Given the description of an element on the screen output the (x, y) to click on. 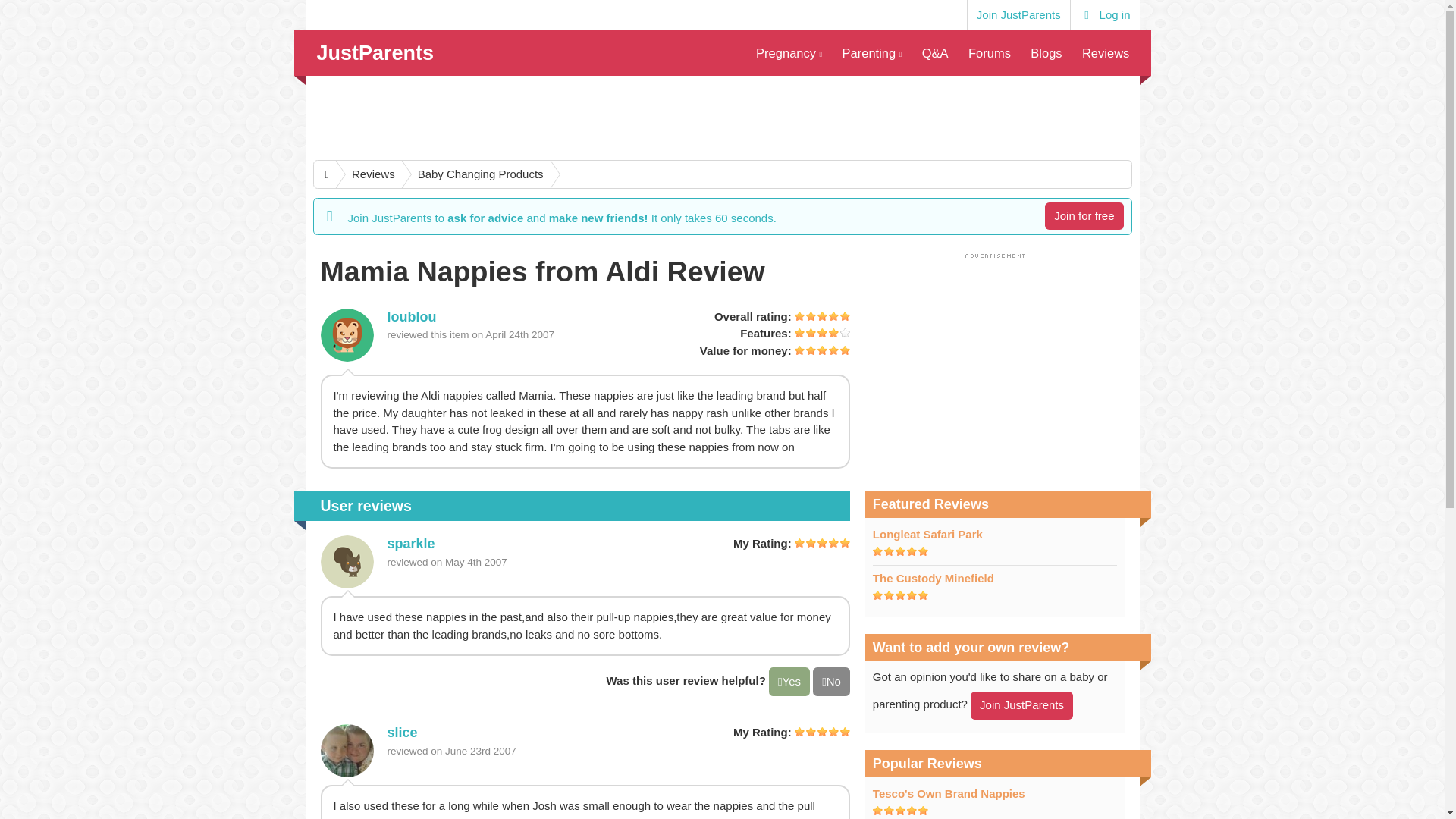
Good (822, 332)
Advertisement (721, 117)
Reviews (365, 174)
Tesco's Own Brand Nappies (948, 793)
loublou (346, 334)
slice (346, 750)
Pregnancy (788, 53)
Reviews (1105, 53)
Forums (989, 53)
Advertisement (994, 367)
Parenting (871, 53)
Excellent (900, 809)
Baby Changing Products (473, 174)
Join JustParents (1018, 15)
Excellent (822, 731)
